Given the description of an element on the screen output the (x, y) to click on. 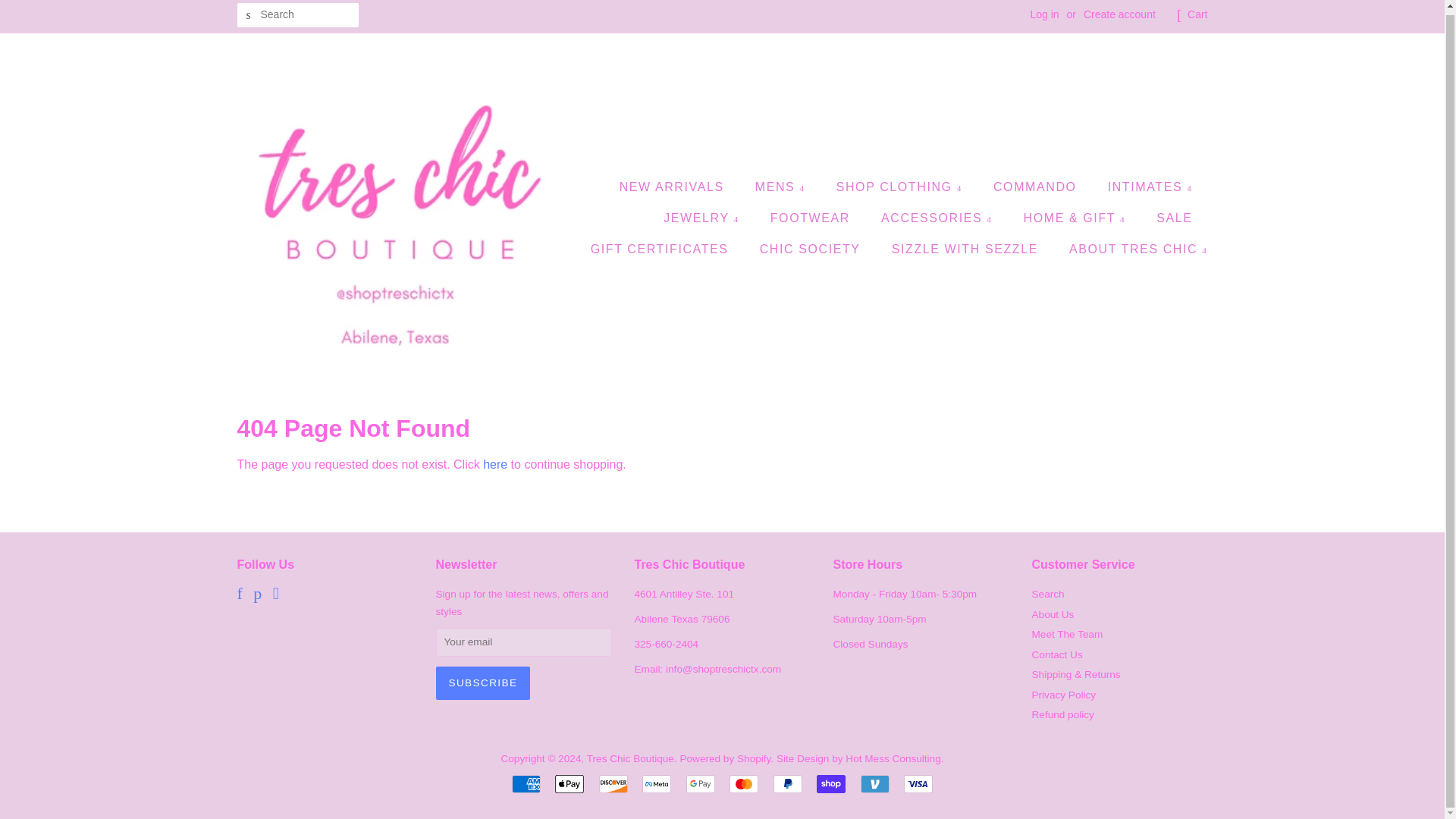
American Express (526, 783)
Venmo (874, 783)
Subscribe (482, 683)
Log in (1043, 14)
Discover (612, 783)
PayPal (787, 783)
Meta Pay (656, 783)
Google Pay (699, 783)
Apple Pay (568, 783)
Cart (1197, 14)
Shop Pay (830, 783)
SEARCH (247, 15)
Create account (1119, 14)
Mastercard (743, 783)
Visa (918, 783)
